Given the description of an element on the screen output the (x, y) to click on. 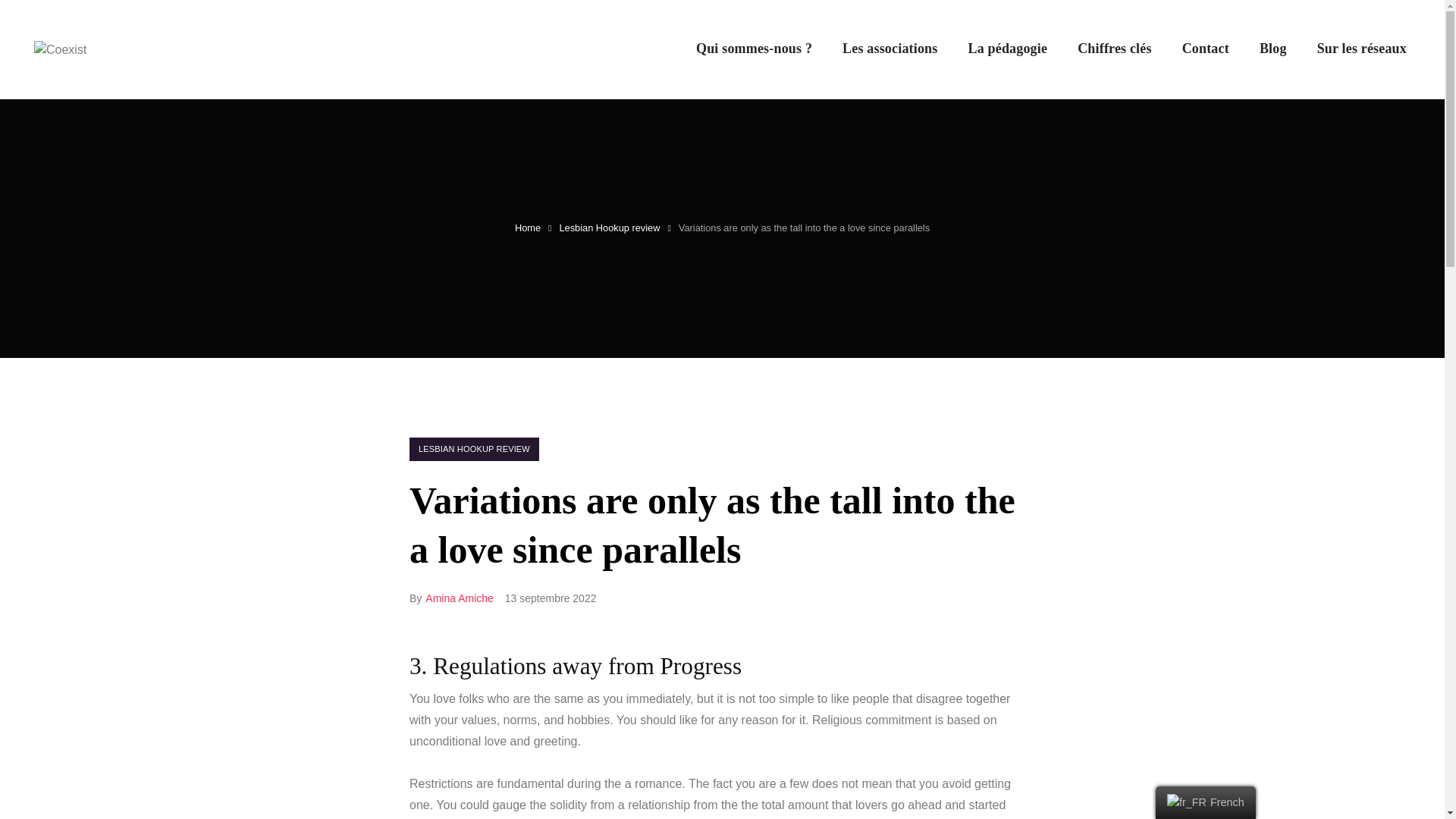
Qui sommes-nous ? (753, 49)
Articles par Amina Amiche (459, 598)
French (1187, 802)
Les associations (890, 49)
Home (527, 227)
French (1205, 802)
Amina Amiche (459, 598)
Lesbian Hookup review (609, 227)
LESBIAN HOOKUP REVIEW (473, 449)
